Given the description of an element on the screen output the (x, y) to click on. 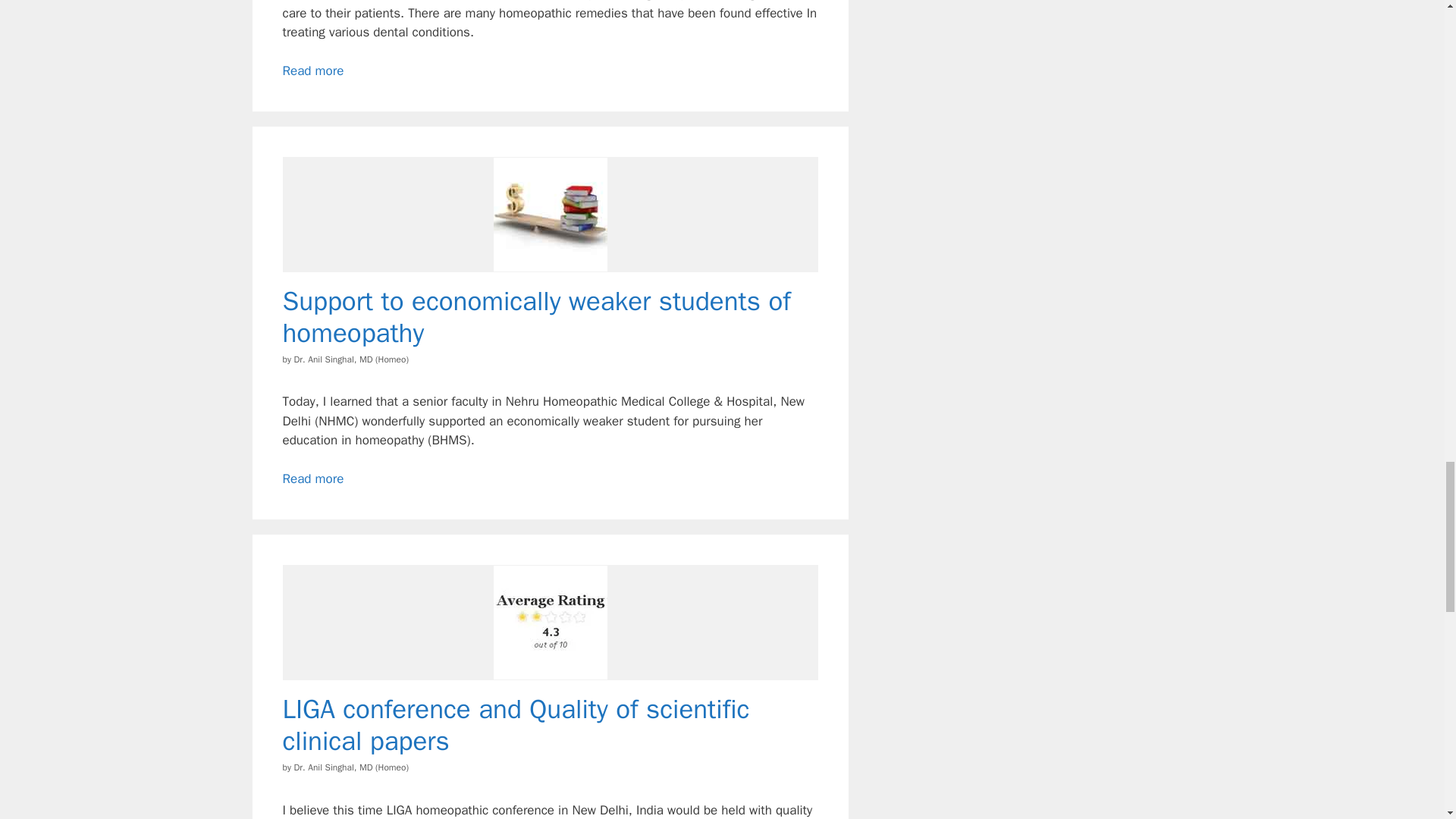
Read more (312, 70)
Read more (312, 478)
Support to economically weaker students of homeopathy (536, 316)
LIGA conference and Quality of scientific clinical papers (515, 724)
